Given the description of an element on the screen output the (x, y) to click on. 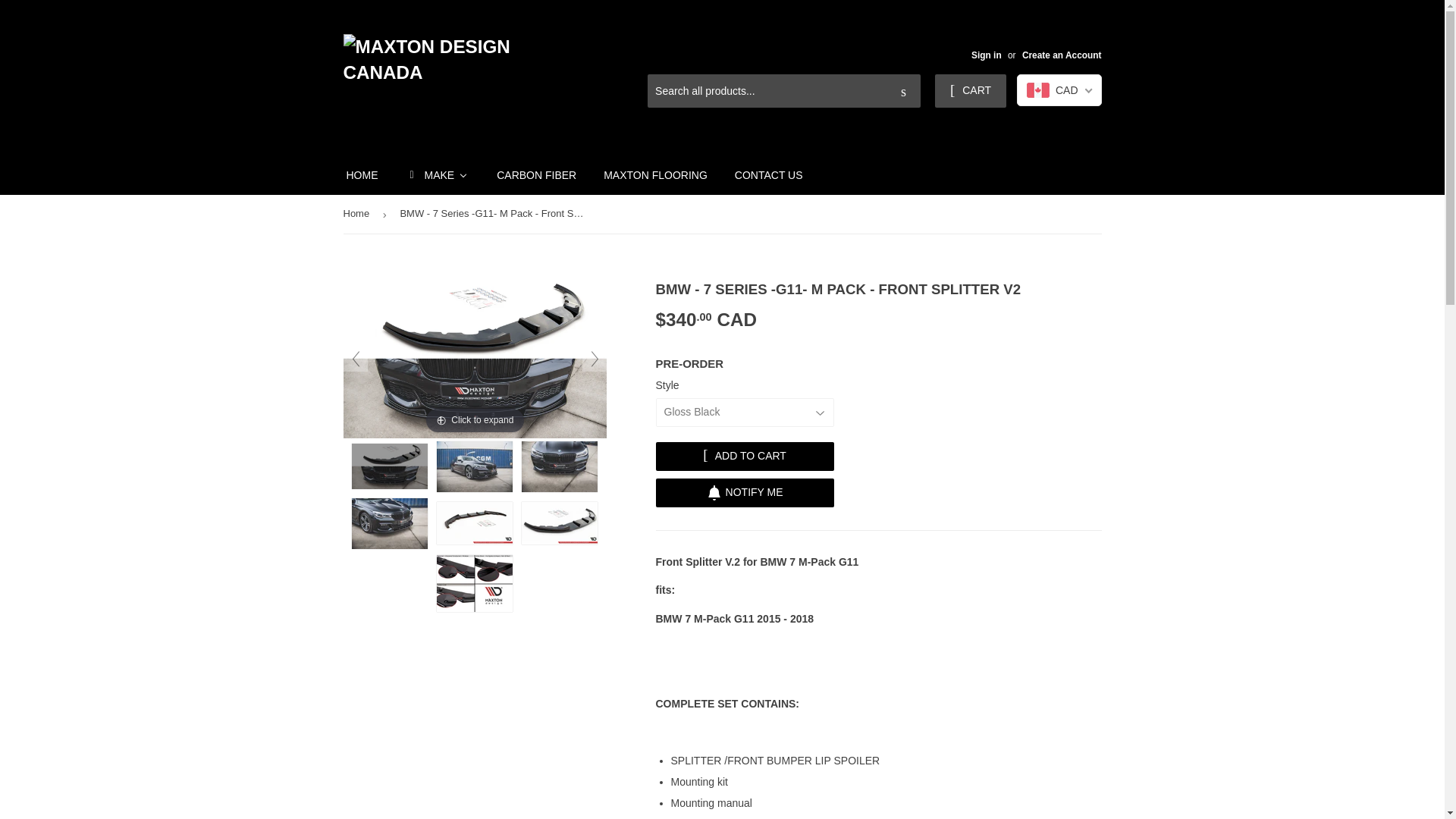
BMW - 7 Series -G11- M Pack - Front Splitter V2 (474, 466)
BMW - 7 Series -G11- M Pack - Front Splitter V2 (558, 523)
Sign in (986, 54)
BMW - 7 Series -G11- M Pack - Front Splitter V2 (474, 523)
HOME (361, 174)
BMW - 7 Series -G11- M Pack - Front Splitter V2 (474, 583)
MAKE (437, 174)
Create an Account (1062, 54)
CART (970, 90)
BMW - 7 Series -G11- M Pack - Front Splitter V2 (558, 466)
Search (903, 91)
BMW - 7 Series -G11- M Pack - Front Splitter V2 (390, 522)
BMW - 7 Series -G11- M Pack - Front Splitter V2 (390, 465)
